Given the description of an element on the screen output the (x, y) to click on. 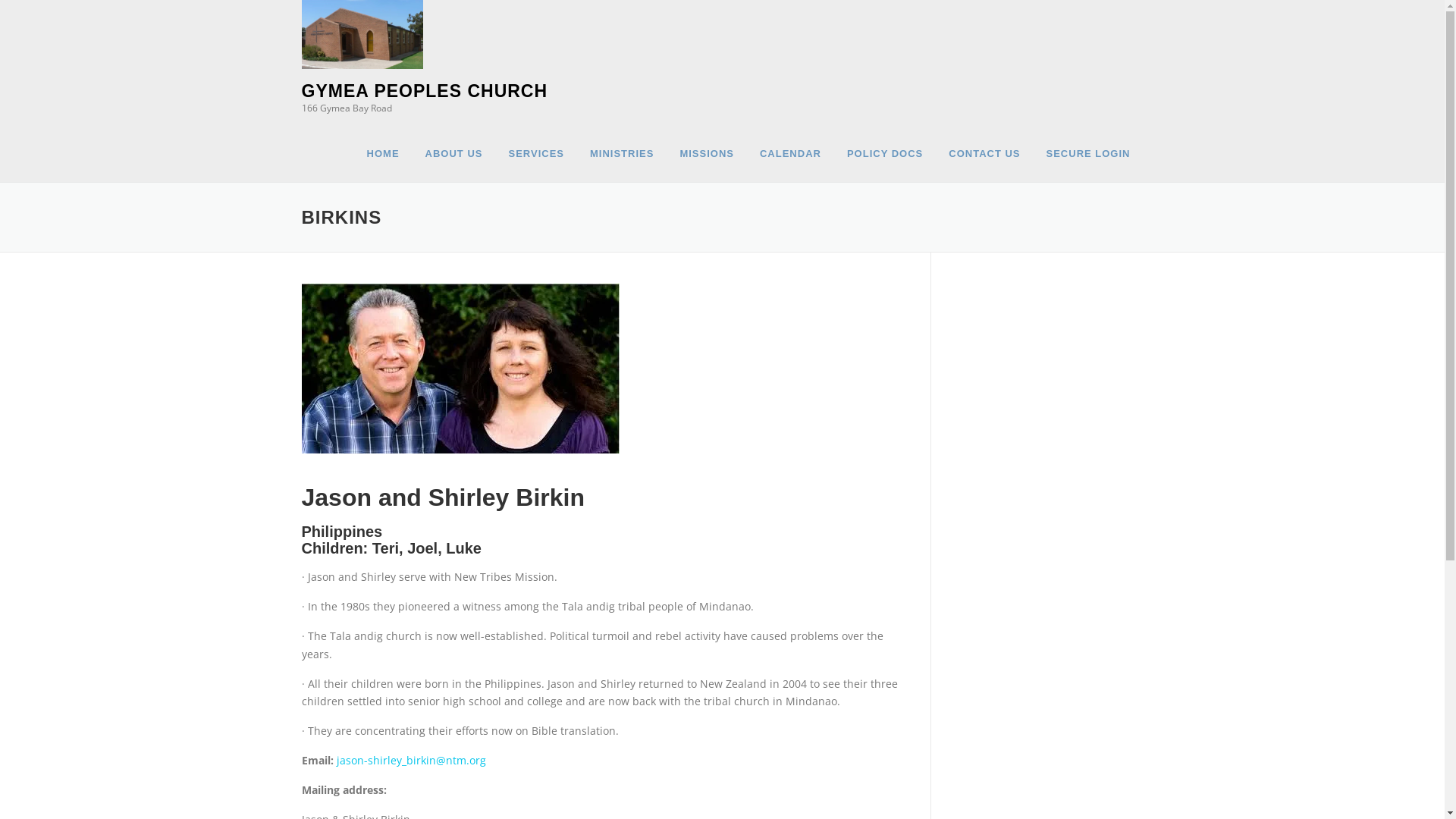
MISSIONS Element type: text (706, 153)
POLICY DOCS Element type: text (884, 153)
GYMEA PEOPLES CHURCH Element type: text (424, 90)
CONTACT US Element type: text (983, 153)
SERVICES Element type: text (536, 153)
MINISTRIES Element type: text (621, 153)
ABOUT US Element type: text (453, 153)
SECURE LOGIN Element type: text (1088, 153)
CALENDAR Element type: text (790, 153)
HOME Element type: text (383, 153)
jason-shirley_birkin@ntm.org Element type: text (411, 760)
